Given the description of an element on the screen output the (x, y) to click on. 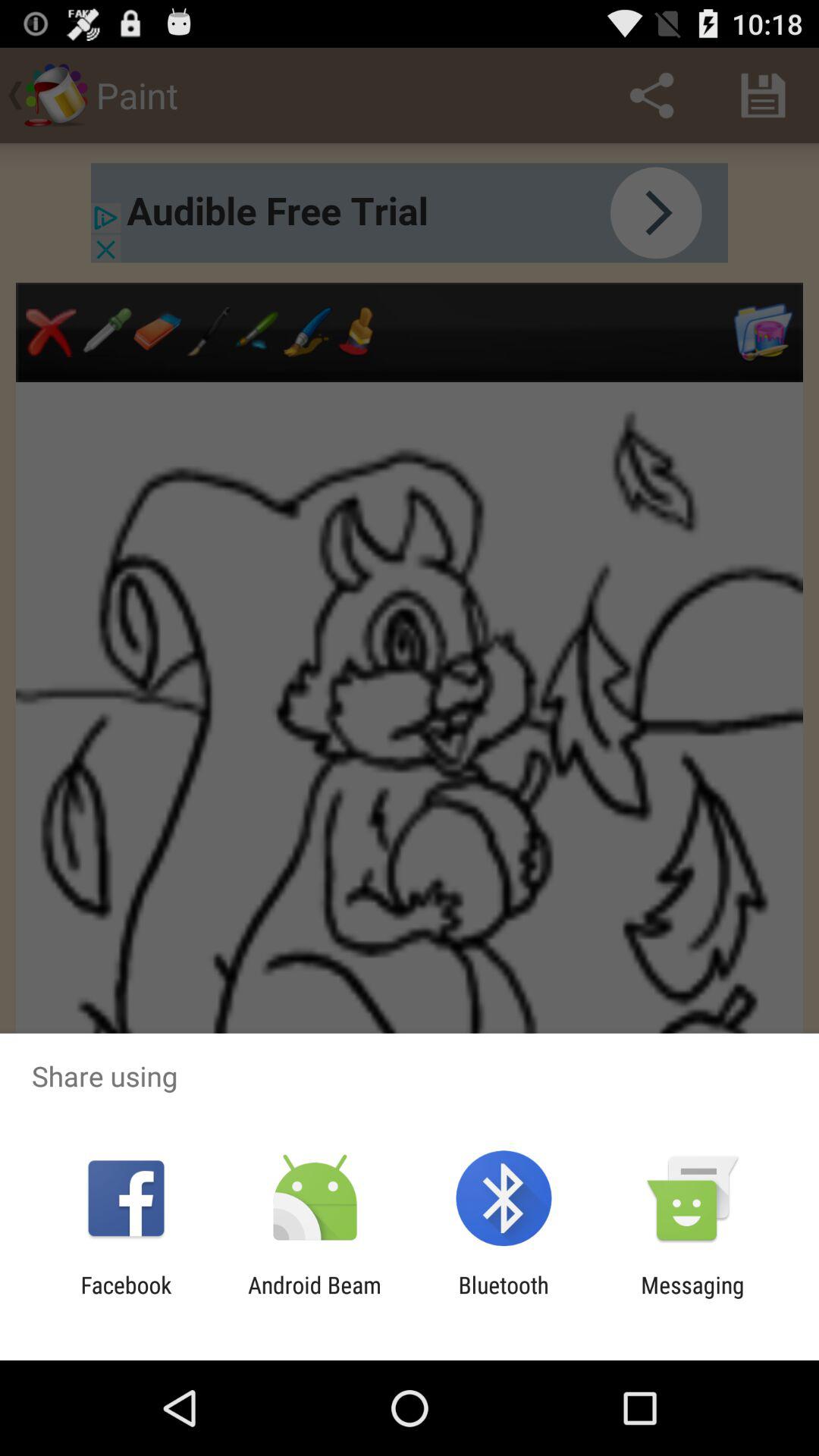
swipe to bluetooth app (503, 1298)
